Given the description of an element on the screen output the (x, y) to click on. 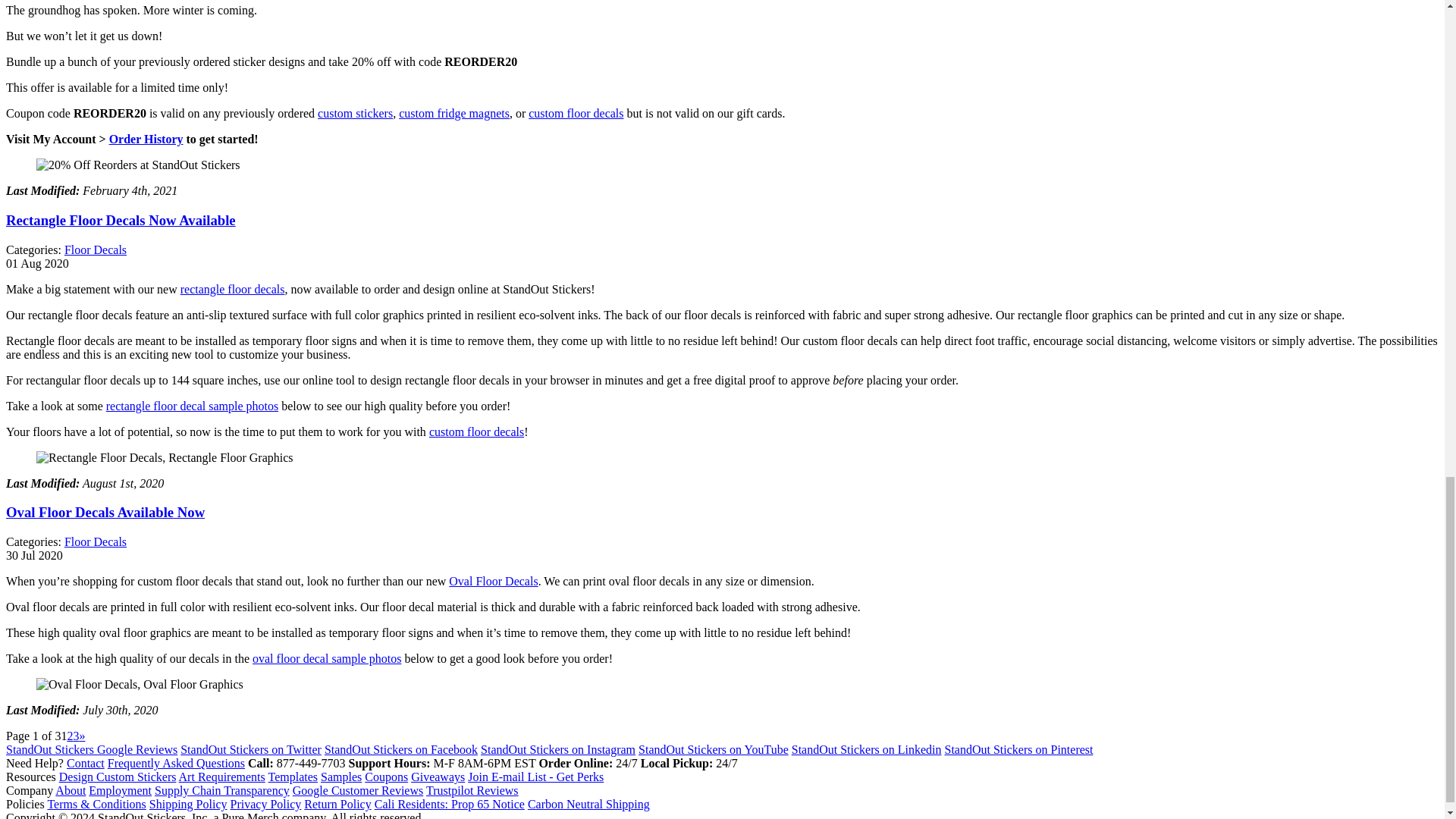
Page 3 (75, 735)
StandOut Stickers on Twitter (250, 748)
StandOut Stickers on Linkedin (867, 748)
StandOut Stickers on YouTube (714, 748)
StandOut Stickers on Pinterest (1018, 748)
Page 2 (69, 735)
California Residents: Prop 65 Warning (449, 803)
StandOut Stickers on Instagram (557, 748)
StandOut Stickers Google Reviews (91, 748)
StandOut Stickers on Facebook (400, 748)
